Given the description of an element on the screen output the (x, y) to click on. 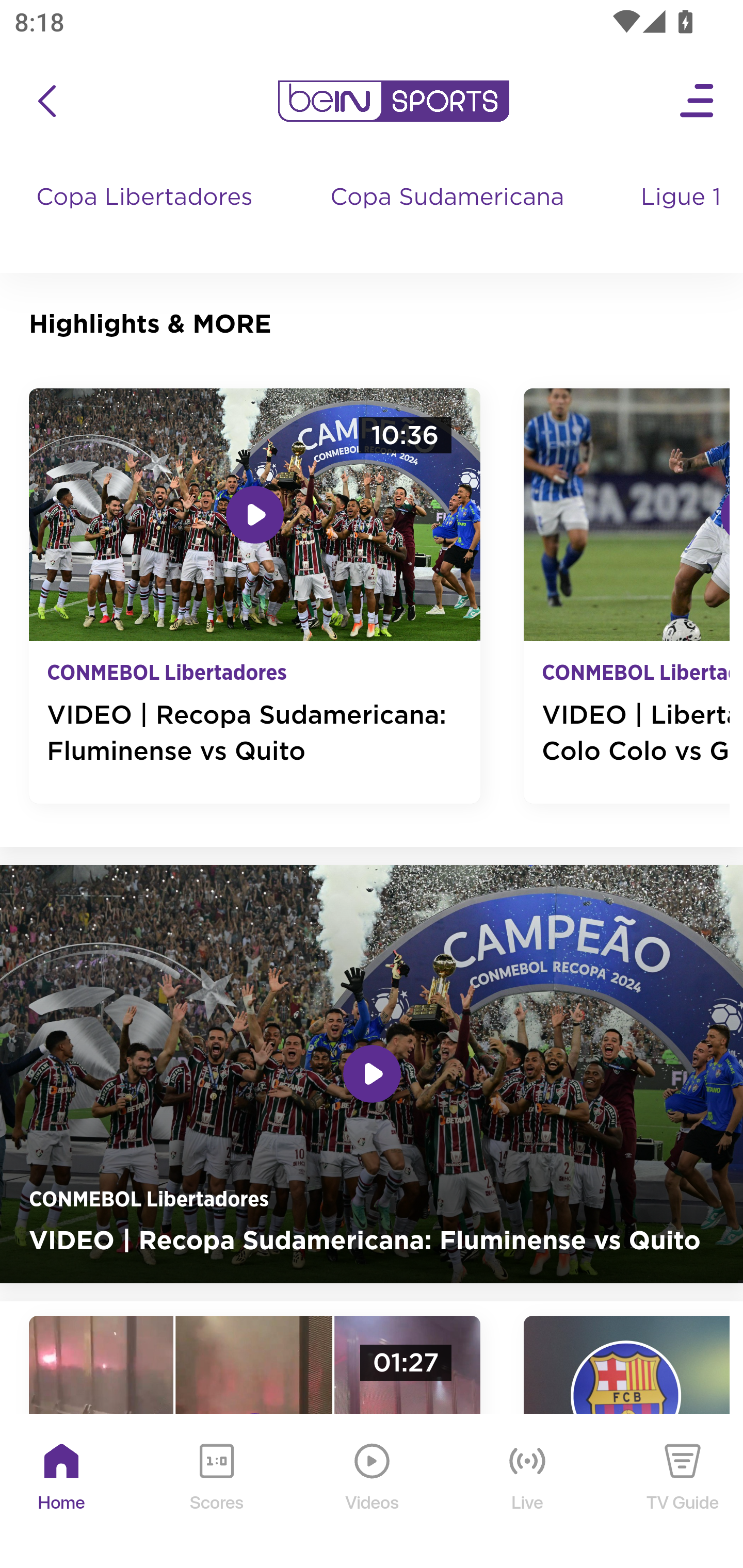
en-us?platform=mobile_android bein logo (392, 101)
icon back (46, 101)
Open Menu Icon (697, 101)
Copa Libertadores (146, 216)
Copa Sudamericana (448, 216)
Ligue 1 (682, 216)
Home Home Icon Home (61, 1491)
Scores Scores Icon Scores (216, 1491)
Videos Videos Icon Videos (372, 1491)
TV Guide TV Guide Icon TV Guide (682, 1491)
